Given the description of an element on the screen output the (x, y) to click on. 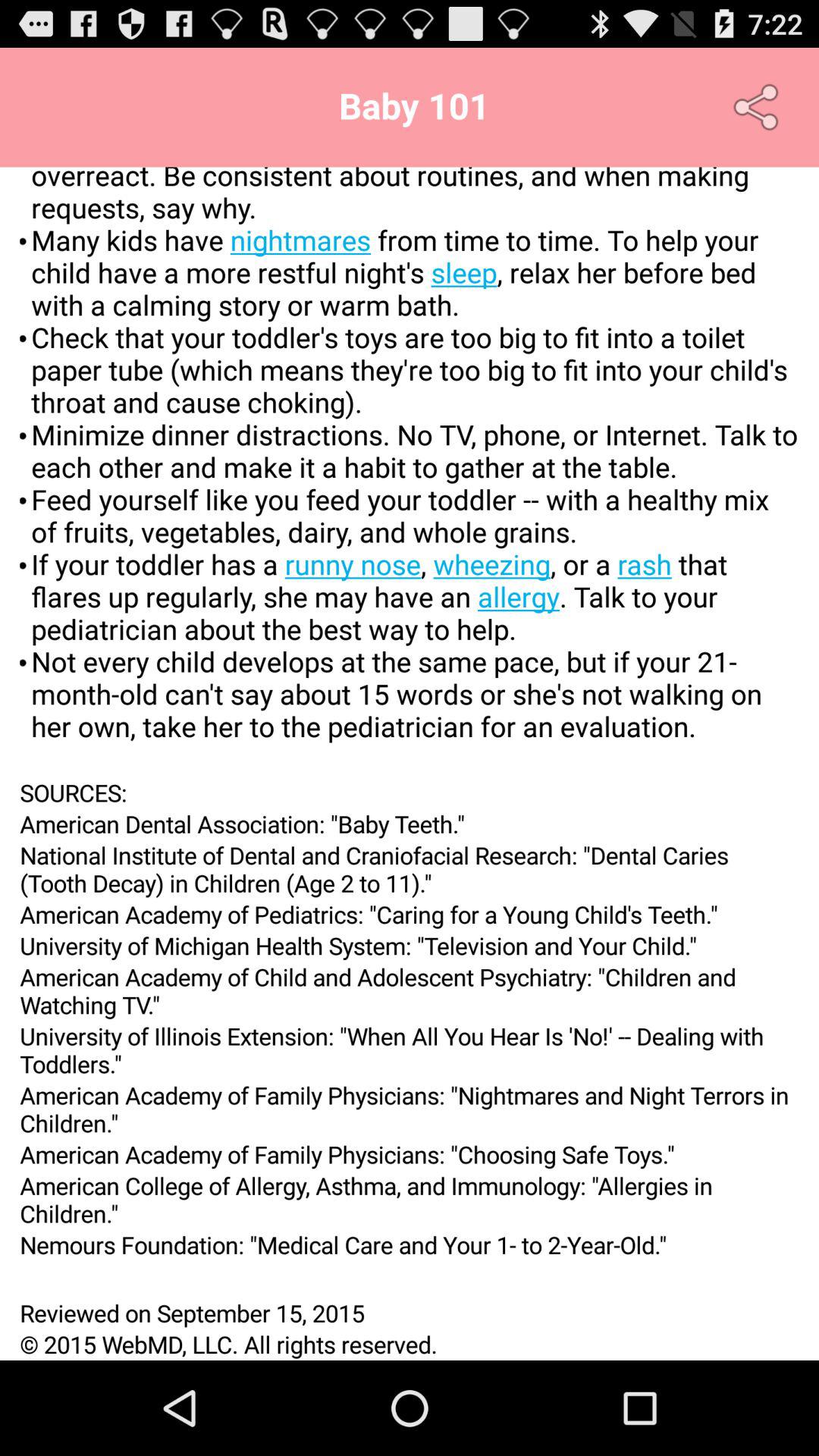
tap month 21 tips item (409, 472)
